Given the description of an element on the screen output the (x, y) to click on. 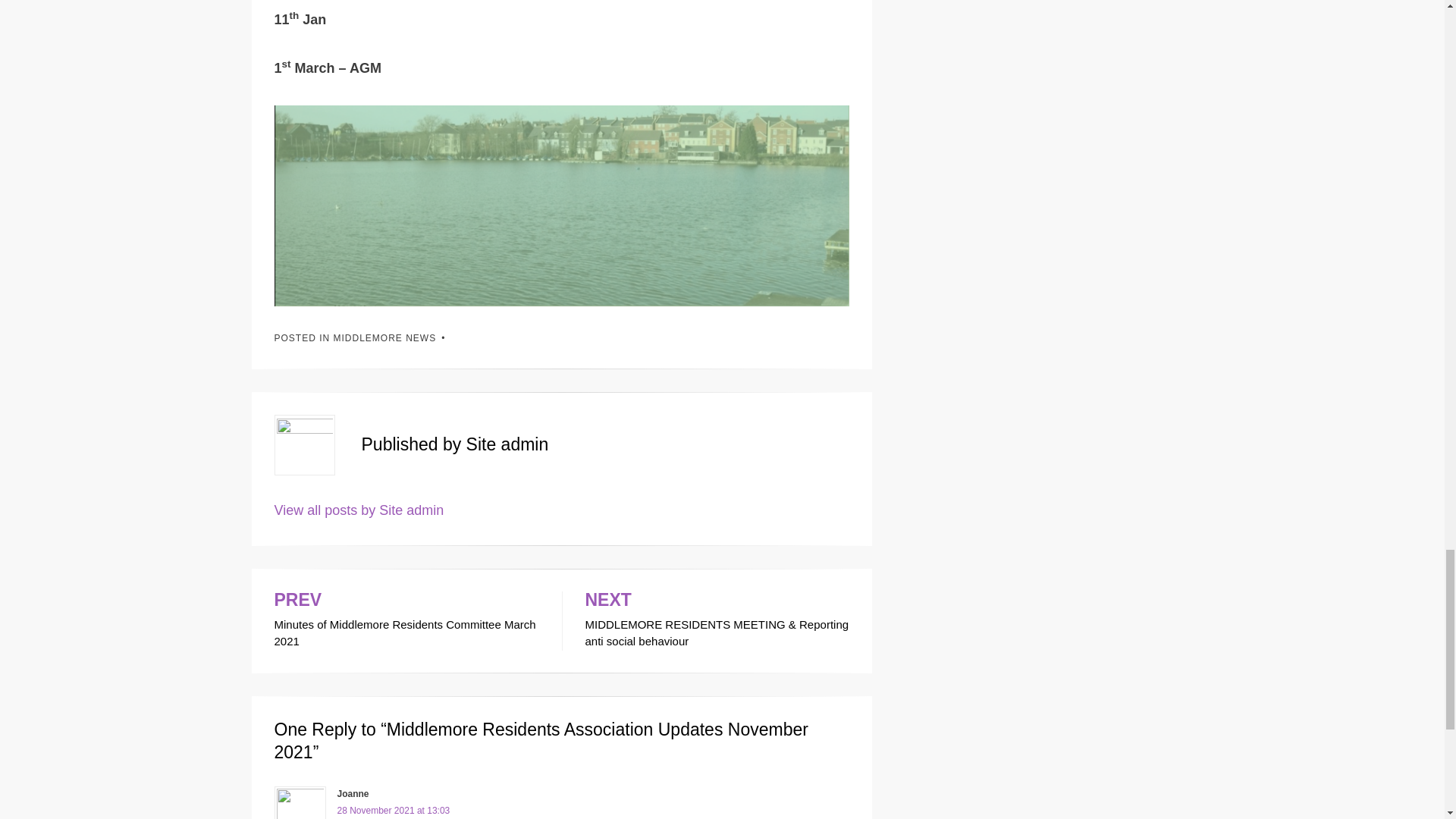
28 November 2021 at 13:03 (392, 810)
MIDDLEMORE NEWS (384, 337)
View all posts by Site admin (406, 620)
